Given the description of an element on the screen output the (x, y) to click on. 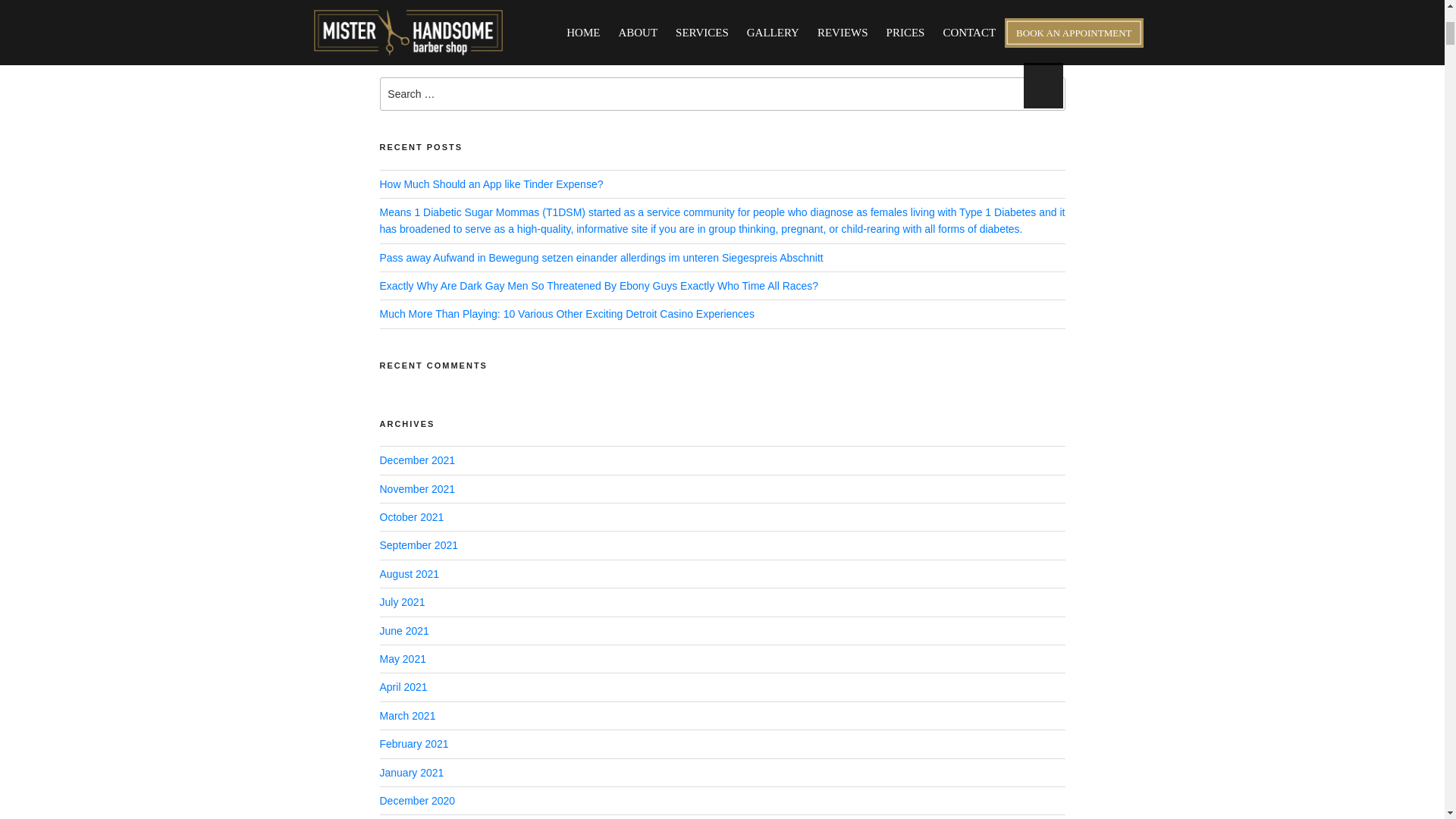
June 2021 (403, 630)
December 2020 (416, 800)
November 2021 (416, 489)
May 2021 (401, 658)
December 2021 (416, 460)
October 2021 (411, 517)
September 2021 (418, 544)
August 2021 (408, 573)
March 2021 (406, 715)
April 2021 (402, 686)
July 2021 (401, 602)
February 2021 (413, 743)
January 2021 (411, 772)
